Given the description of an element on the screen output the (x, y) to click on. 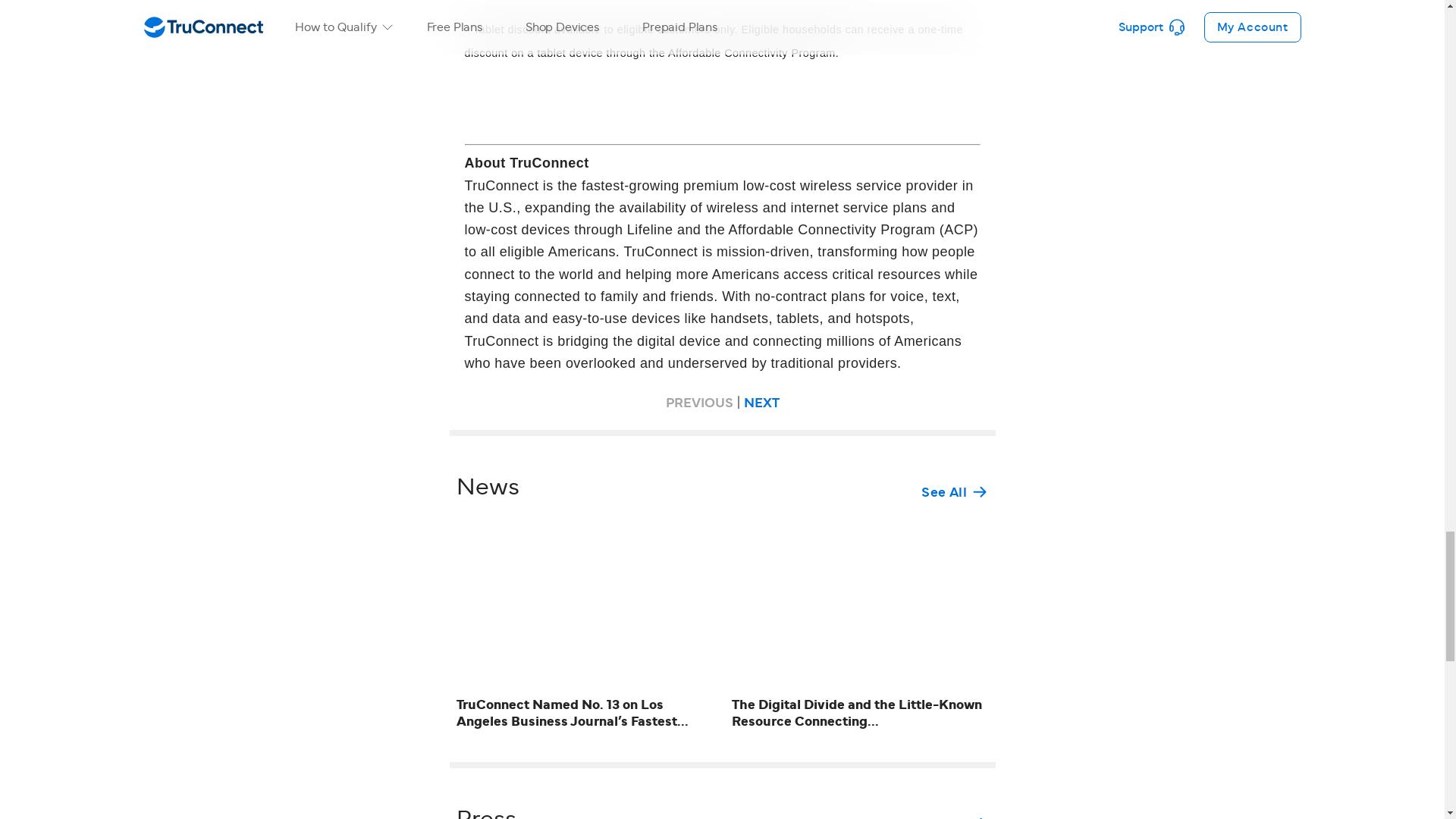
PREVIOUS (699, 403)
NEXT (760, 403)
See All (954, 816)
See All (954, 491)
